Given the description of an element on the screen output the (x, y) to click on. 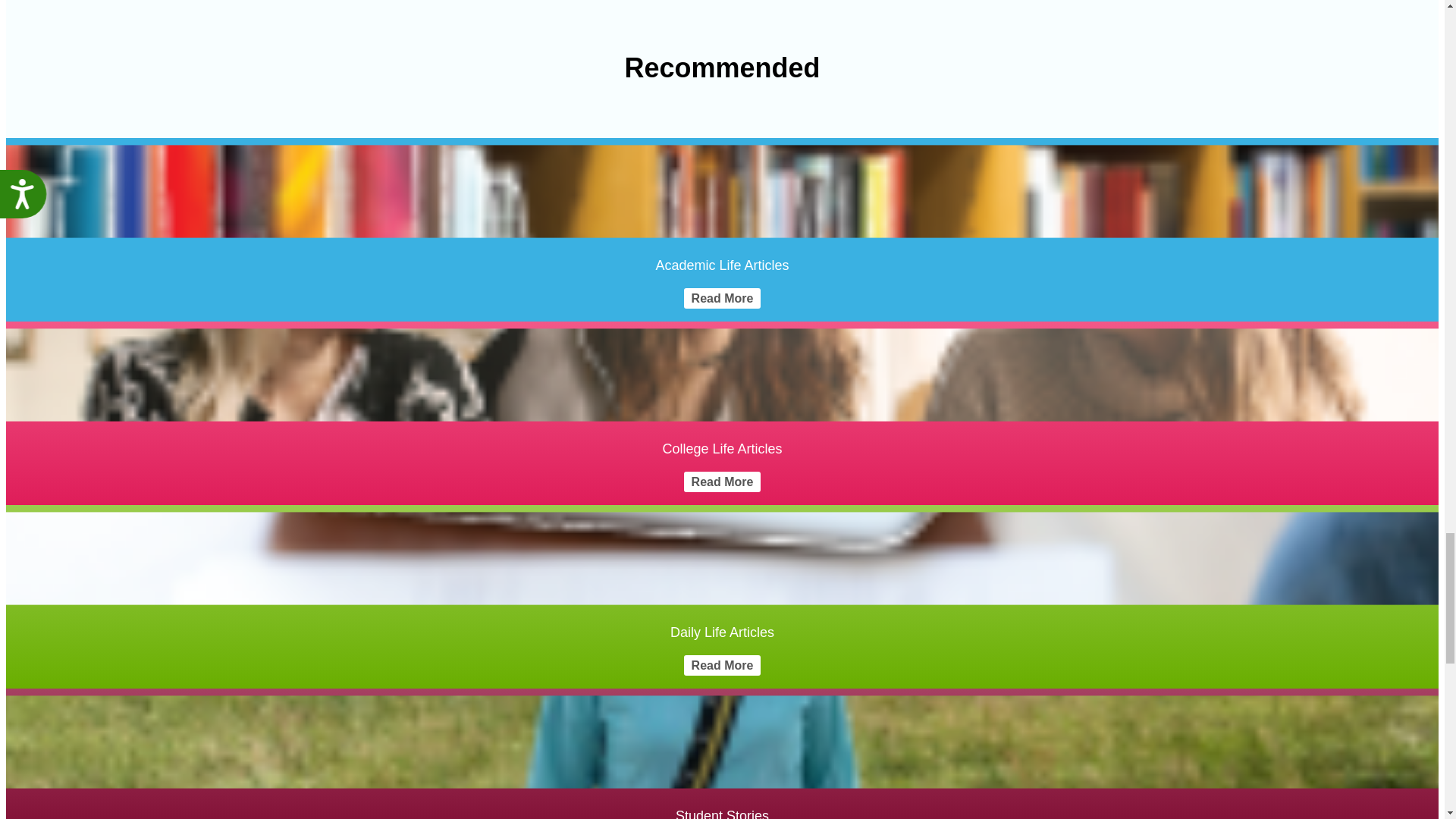
Read More (722, 481)
Read More (722, 298)
